Given the description of an element on the screen output the (x, y) to click on. 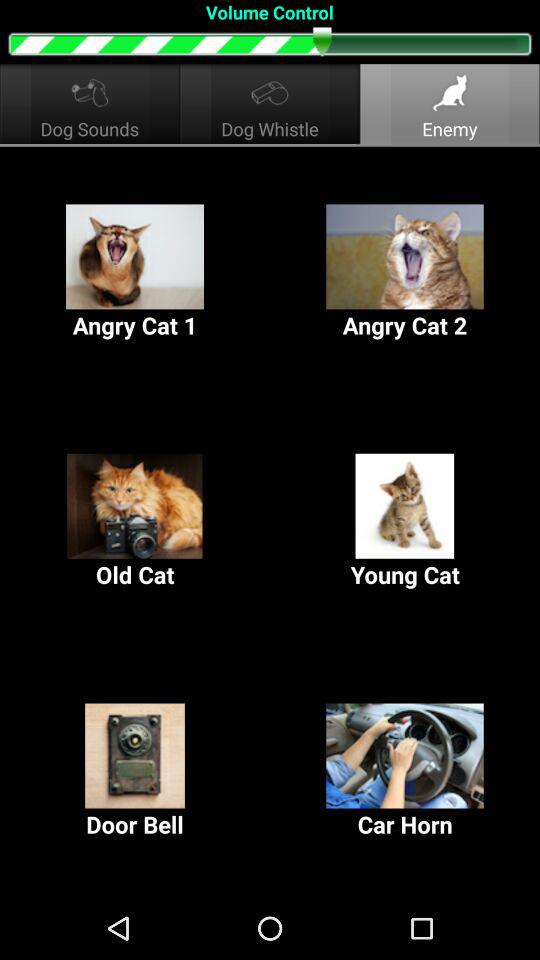
turn off the item below angry cat 1 button (405, 521)
